Given the description of an element on the screen output the (x, y) to click on. 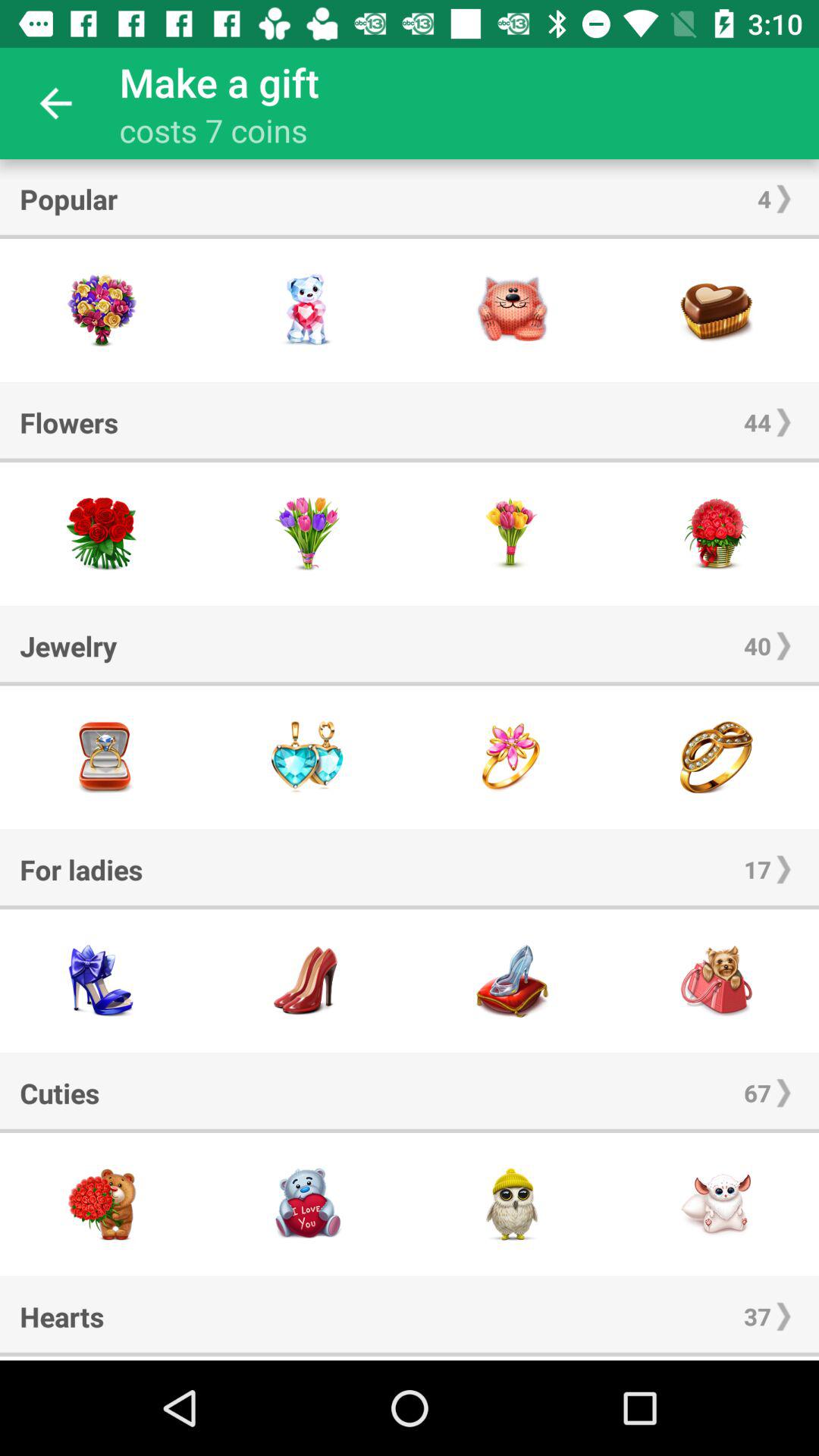
select gift (306, 310)
